Given the description of an element on the screen output the (x, y) to click on. 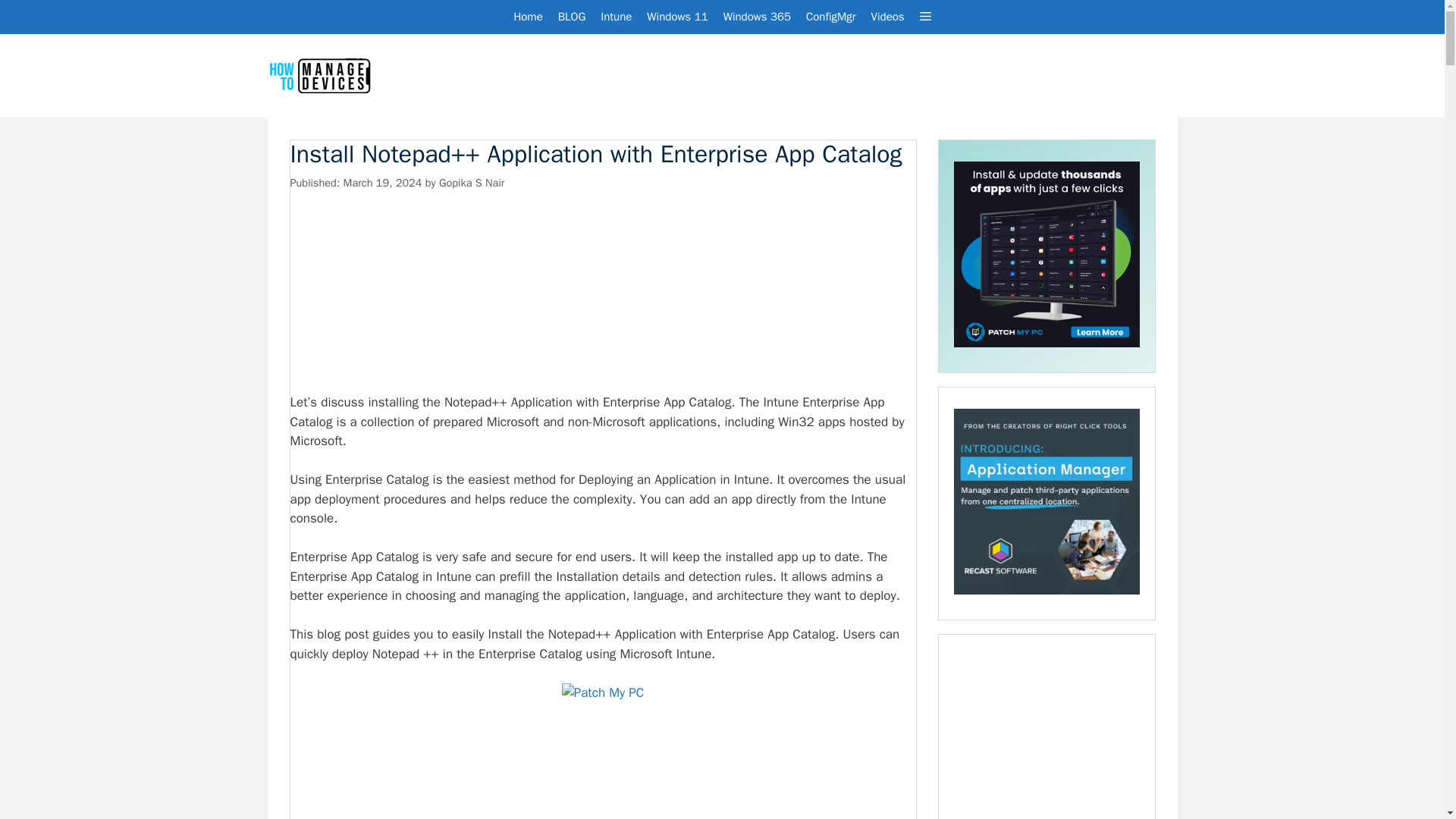
Home (527, 17)
Intune (615, 17)
Microsoft Endpoint Manager Intune (615, 17)
Videos (887, 17)
BLOG (572, 17)
Microsoft Endpoint Manager Configuration Manager (830, 17)
Windows 365 (756, 17)
Windows 11 (676, 17)
ConfigMgr (830, 17)
View all posts by Gopika S Nair (472, 182)
Gopika S Nair (472, 182)
BLOG (572, 17)
